Given the description of an element on the screen output the (x, y) to click on. 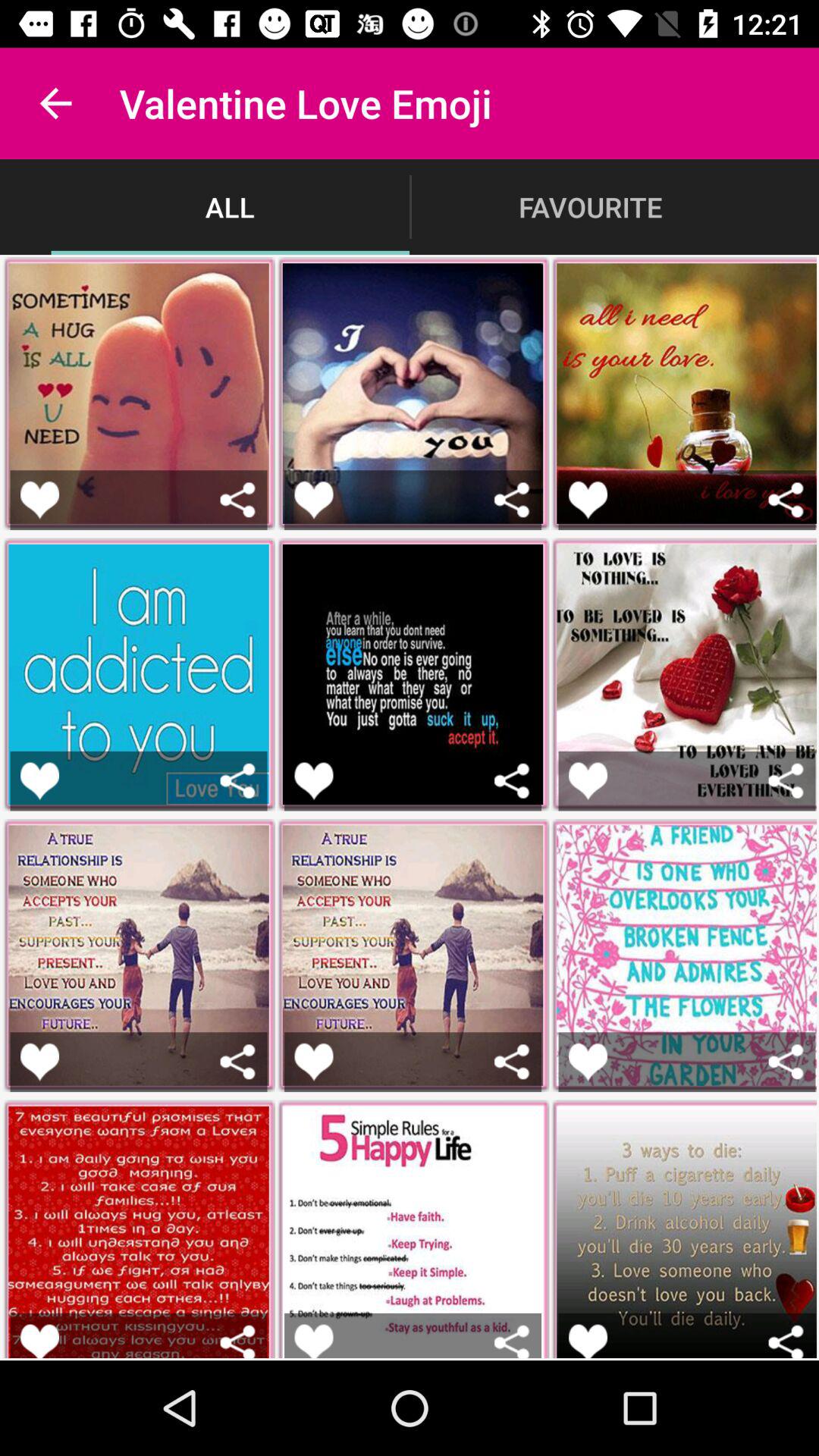
like heart the picture (313, 499)
